Given the description of an element on the screen output the (x, y) to click on. 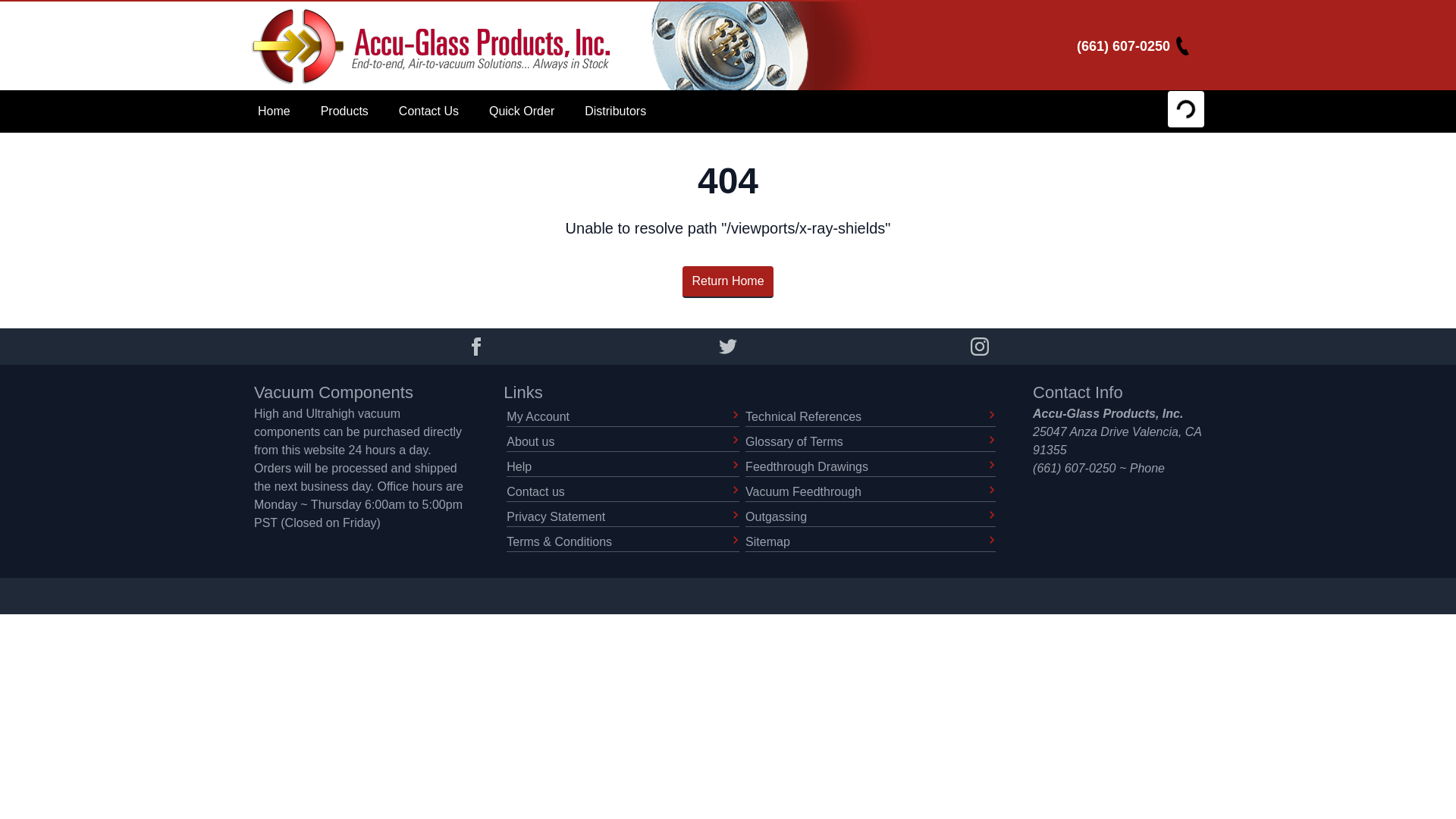
Glossary of Terms (870, 442)
Home (274, 111)
My Account (622, 416)
Vacuum Feedthrough (870, 492)
Quick Order (521, 111)
footer link chevron (991, 489)
footer link chevron (735, 464)
link to our instagram (979, 346)
Feedthrough Drawings (870, 466)
footer link chevron (735, 539)
footer link chevron (735, 489)
Sitemap (870, 542)
About us (622, 442)
Distributors (615, 111)
Contact us (622, 492)
